Given the description of an element on the screen output the (x, y) to click on. 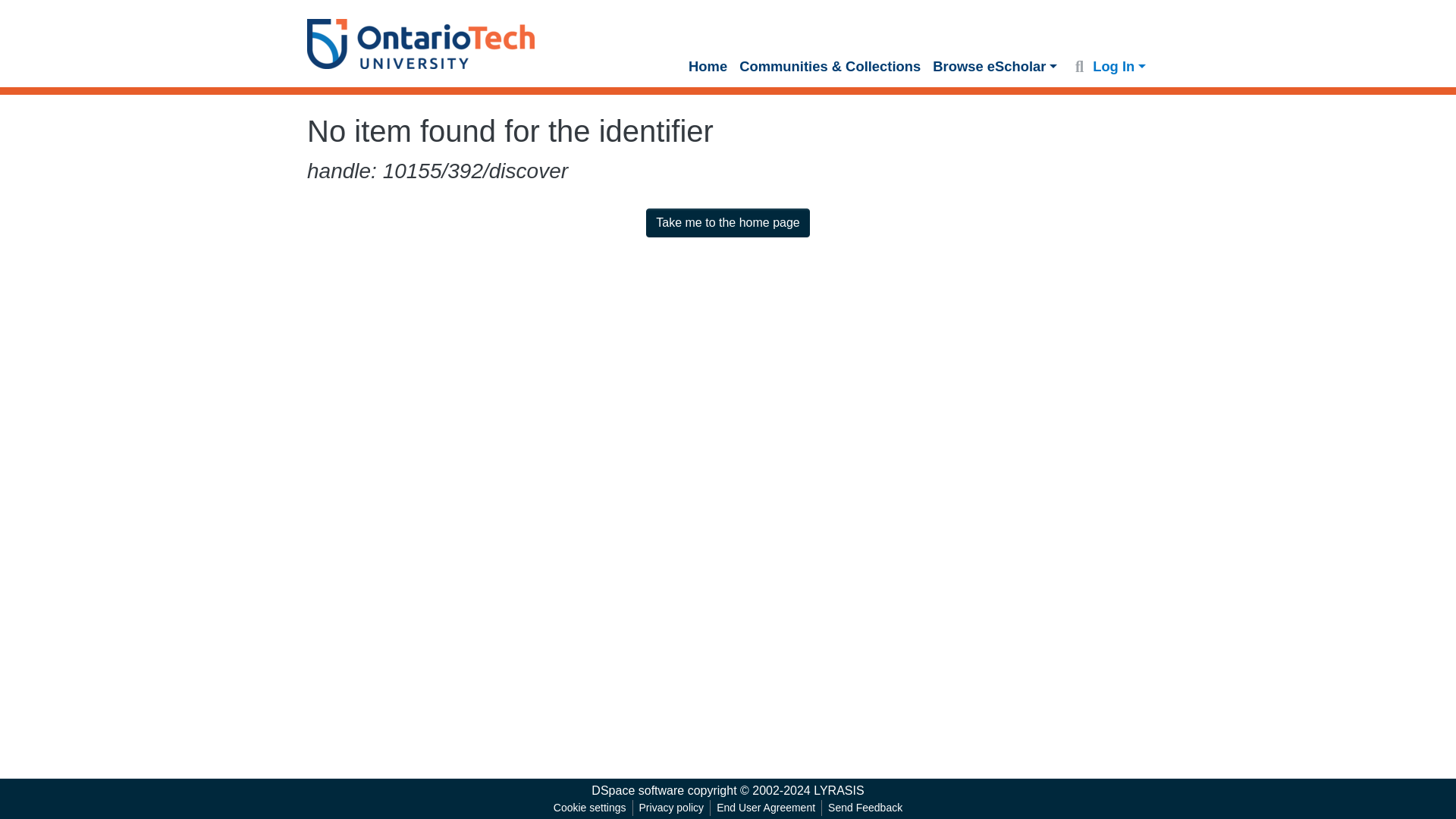
LYRASIS (838, 789)
Take me to the home page (727, 222)
Privacy policy (671, 807)
DSpace software (637, 789)
Log In (1118, 66)
Home (707, 66)
Send Feedback (865, 807)
Search (1078, 66)
End User Agreement (765, 807)
Browse eScholar (994, 66)
Cookie settings (589, 807)
